Given the description of an element on the screen output the (x, y) to click on. 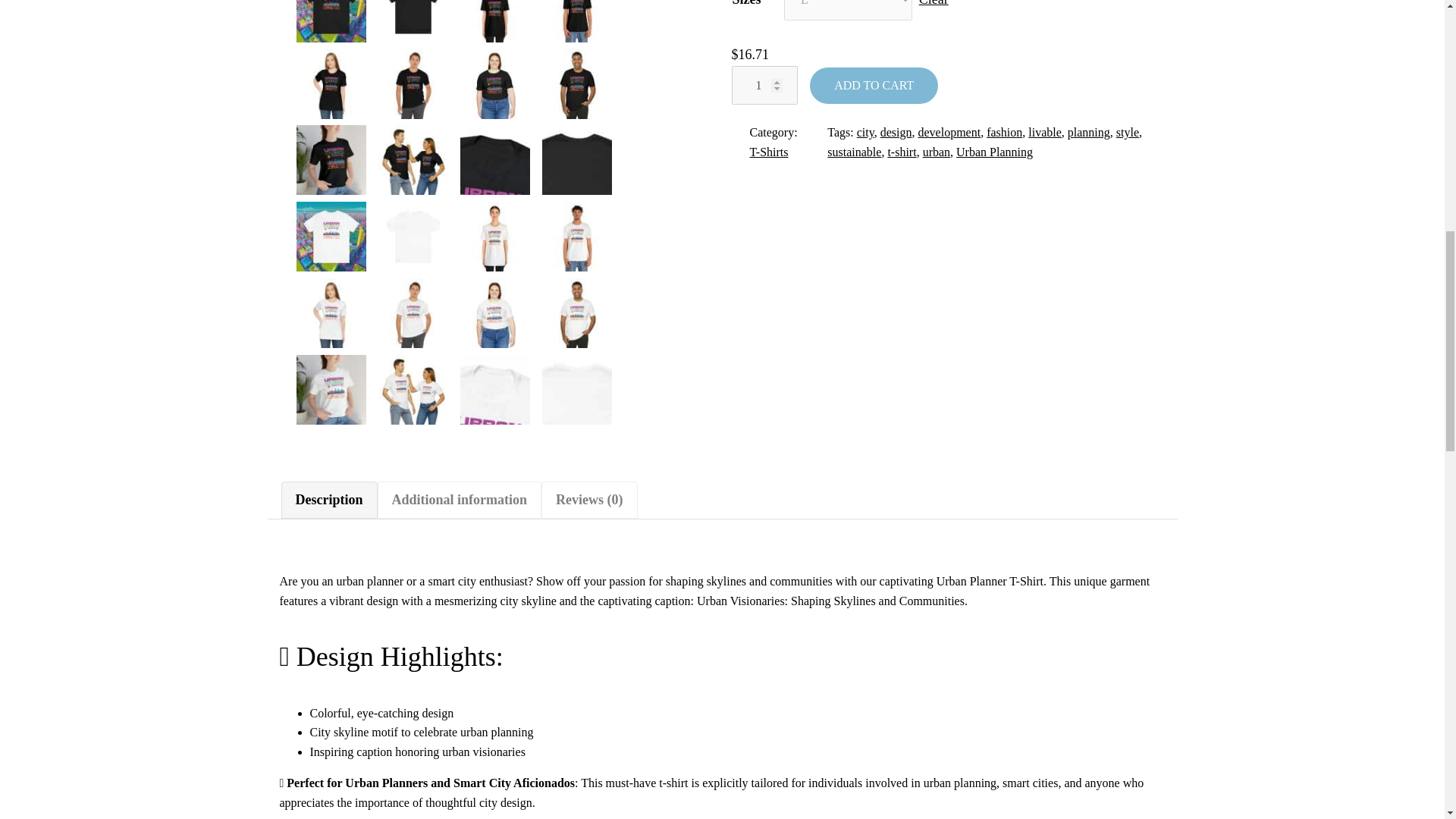
city (866, 132)
T-Shirts (768, 151)
Clear (933, 3)
1 (763, 85)
ADD TO CART (873, 85)
